Given the description of an element on the screen output the (x, y) to click on. 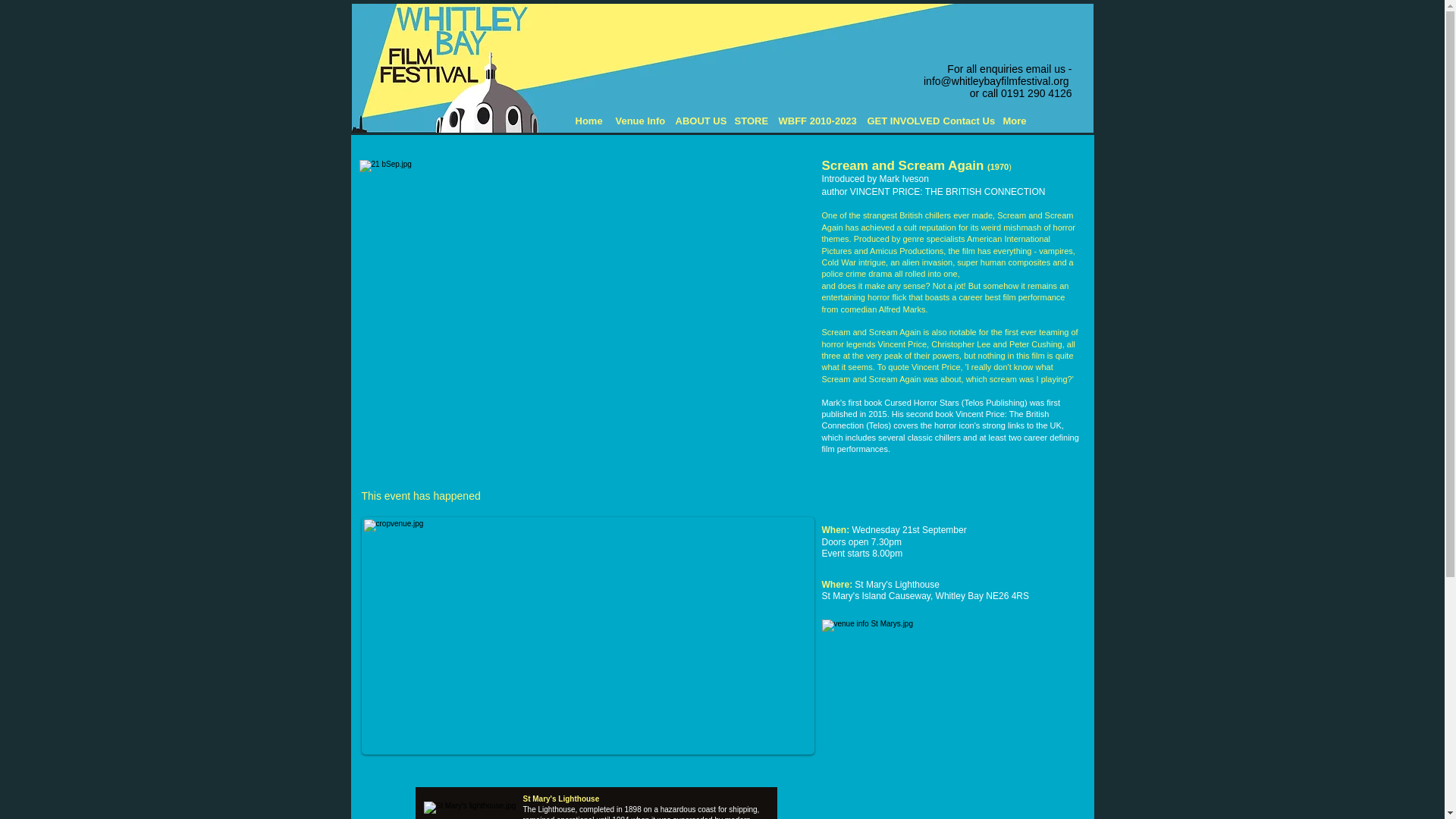
ABOUT US (696, 120)
STORE (748, 120)
GET INVOLVED (898, 120)
Contact Us (965, 120)
Home (587, 120)
WBFF 2010-2023 (814, 120)
Venue Info (638, 120)
